Given the description of an element on the screen output the (x, y) to click on. 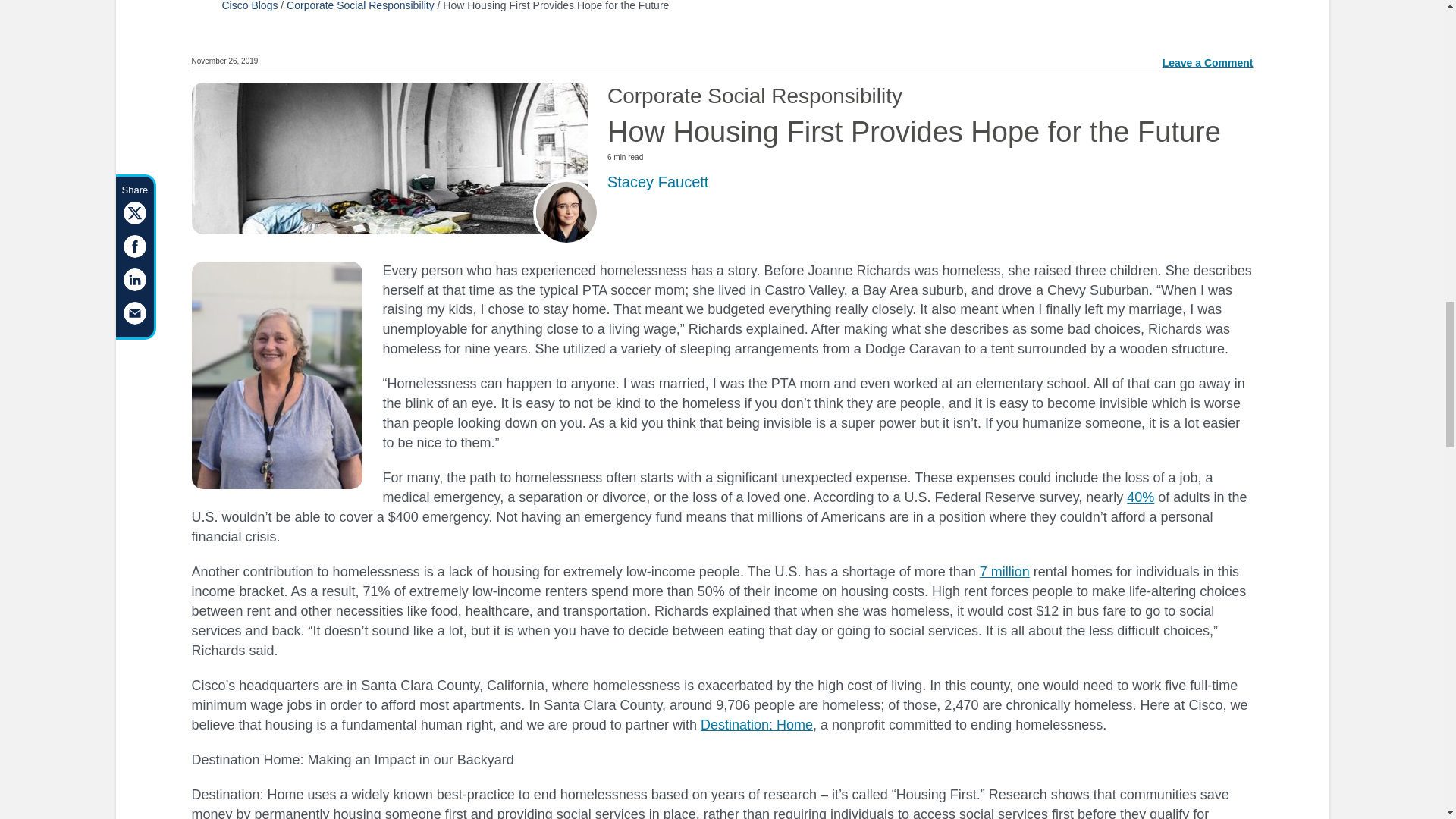
Corporate Social Responsibility (359, 5)
Posts by Stacey Faucett (657, 180)
Destination: Home (756, 724)
7 million (1004, 571)
Stacey Faucett (657, 180)
Cisco Blogs (249, 5)
